Given the description of an element on the screen output the (x, y) to click on. 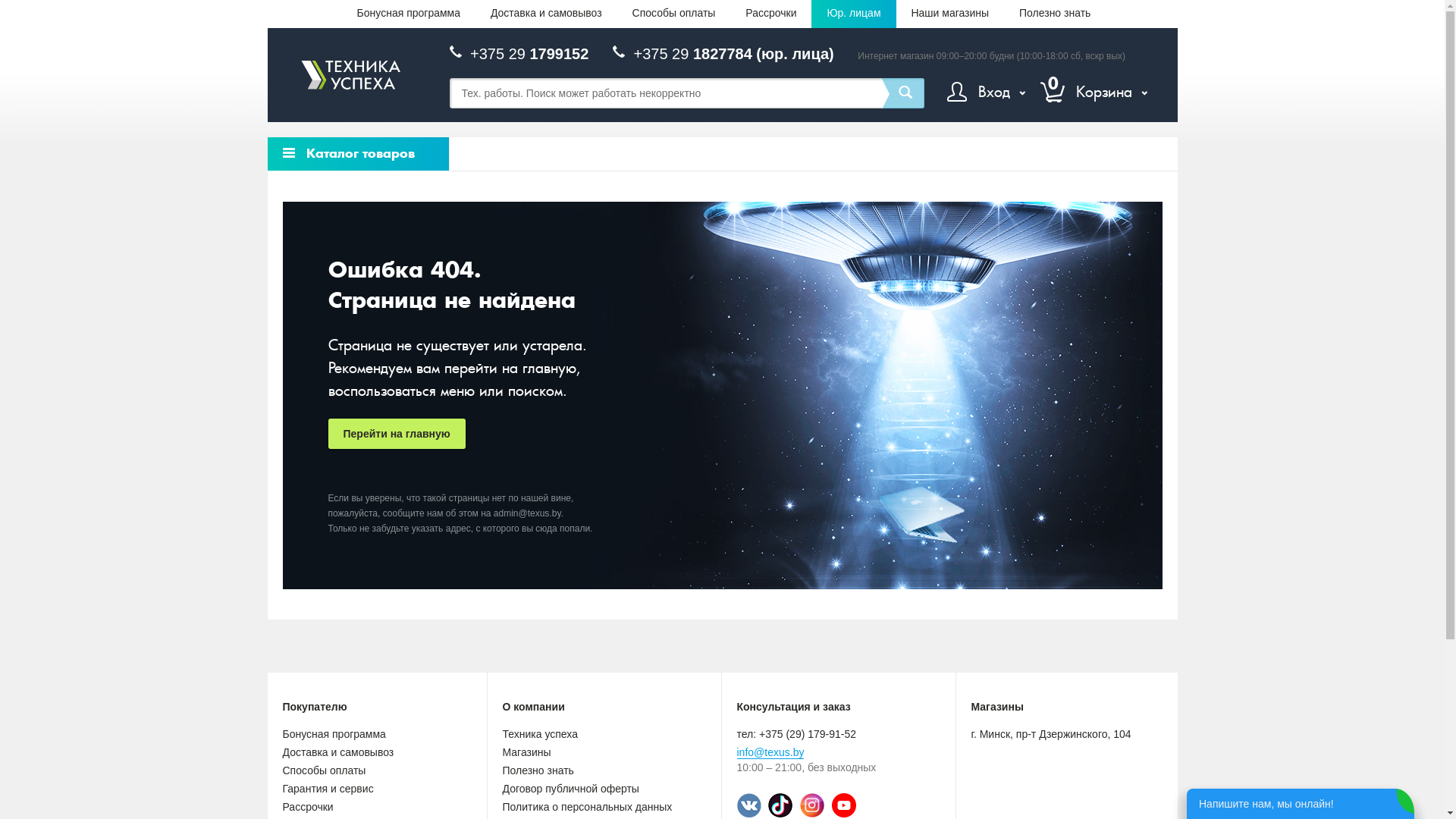
info@texus.by Element type: text (770, 752)
+375 29 1799152 Element type: text (529, 53)
